Given the description of an element on the screen output the (x, y) to click on. 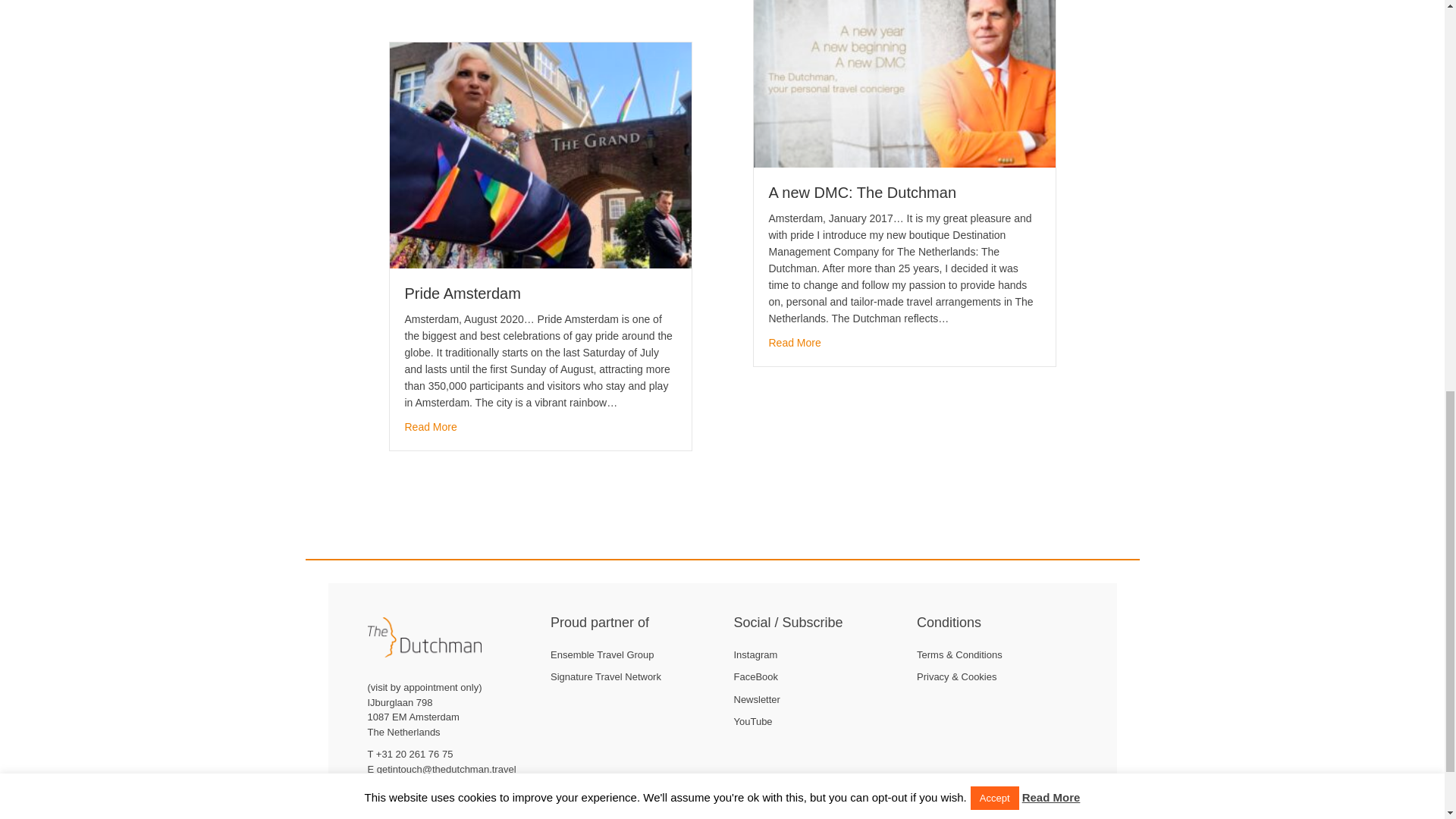
Pride Amsterdam (540, 154)
Pride Amsterdam (430, 426)
A new DMC: The Dutchman (862, 192)
A new DMC: The Dutchman (862, 192)
Read More (794, 342)
Pride Amsterdam (462, 293)
A new DMC: The Dutchman (794, 342)
Pride Amsterdam (462, 293)
A new DMC: The Dutchman (904, 65)
